Given the description of an element on the screen output the (x, y) to click on. 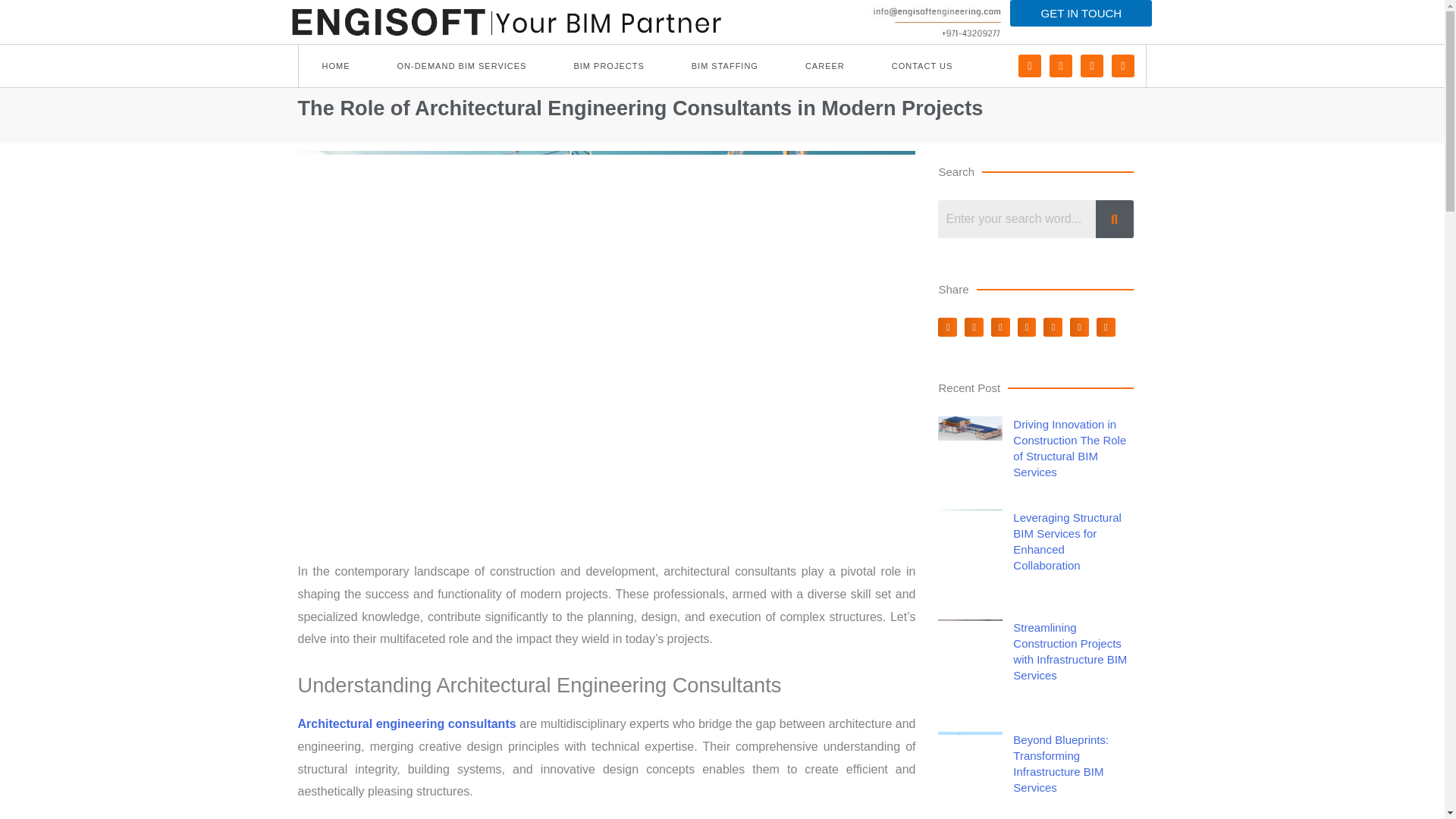
BIM PROJECTS (608, 65)
Phone-alt (1029, 65)
BIM STAFFING (724, 65)
GET IN TOUCH (1080, 13)
ON-DEMAND BIM SERVICES (461, 65)
CONTACT US (921, 65)
Search (1015, 218)
CAREER (824, 65)
HOME (336, 65)
